Given the description of an element on the screen output the (x, y) to click on. 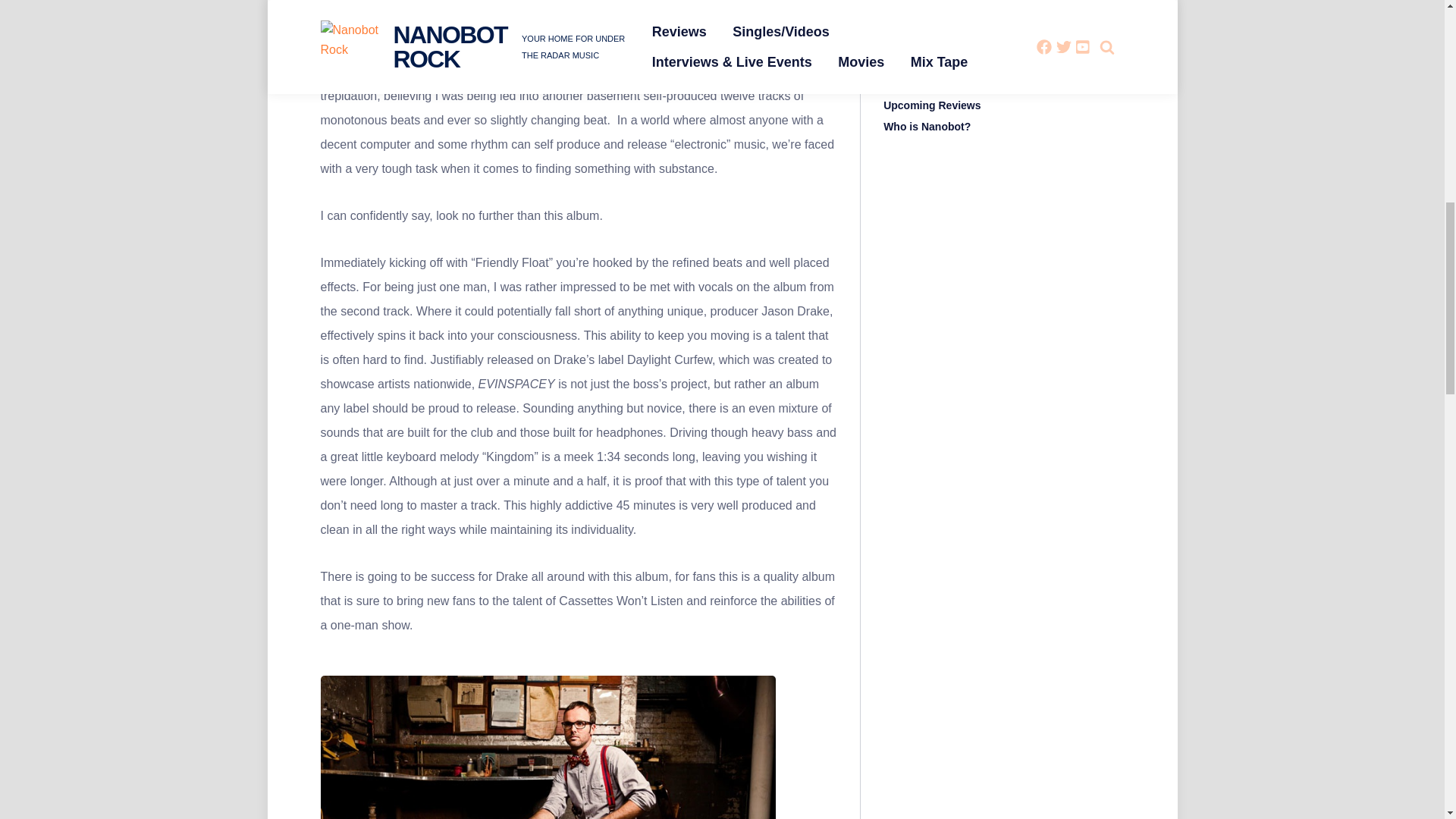
Home (897, 62)
Archive (902, 41)
Cassettes Won't Listen (547, 747)
